Given the description of an element on the screen output the (x, y) to click on. 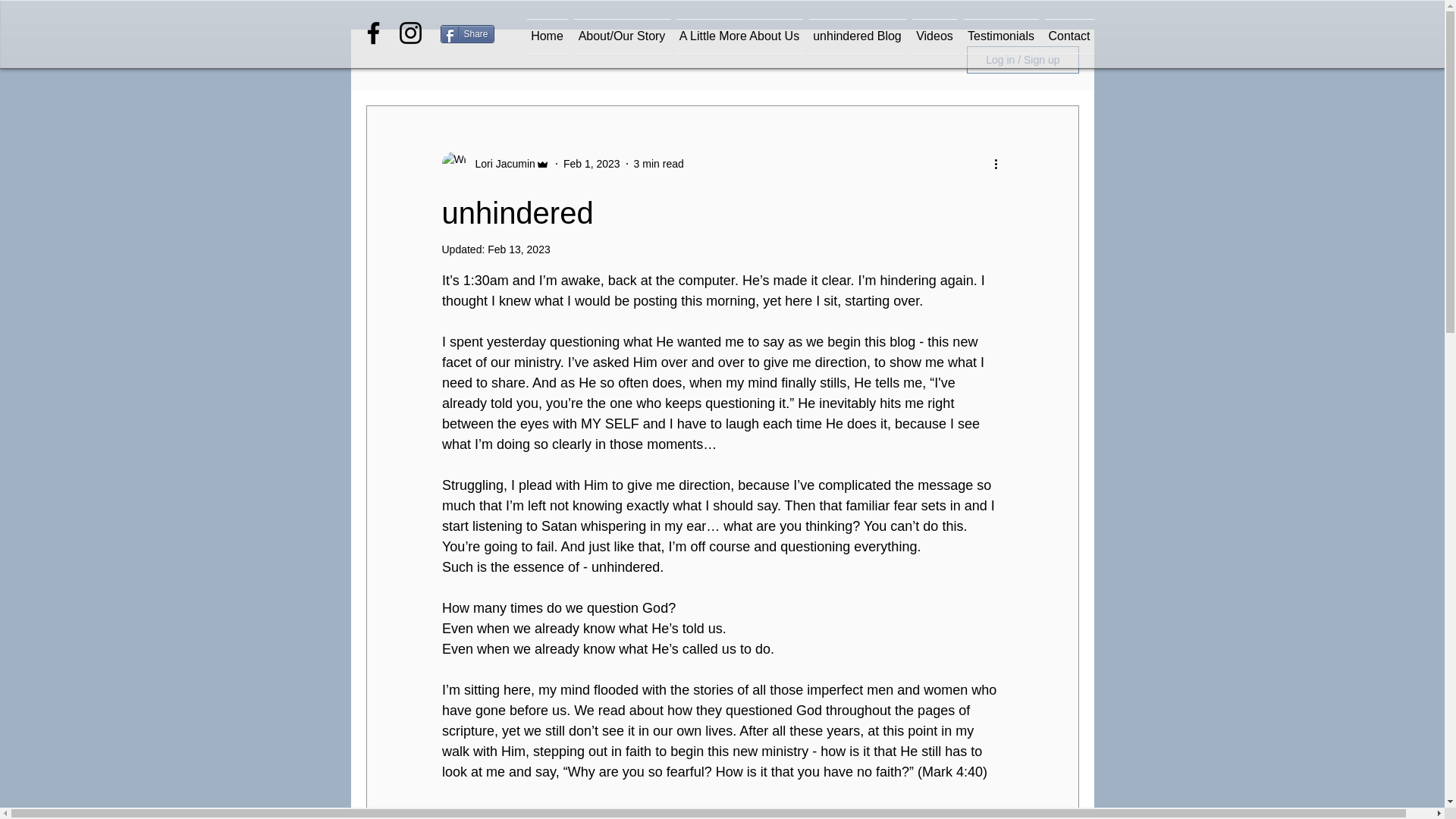
Home (547, 36)
Feb 1, 2023 (591, 163)
Lori Jacumin (499, 163)
Testimonials (1000, 36)
Videos (933, 36)
3 min read (658, 163)
Contact (1068, 36)
unhindered Blog (856, 36)
Feb 13, 2023 (518, 249)
Share (466, 34)
A Little More About Us (739, 36)
Share (466, 34)
